Given the description of an element on the screen output the (x, y) to click on. 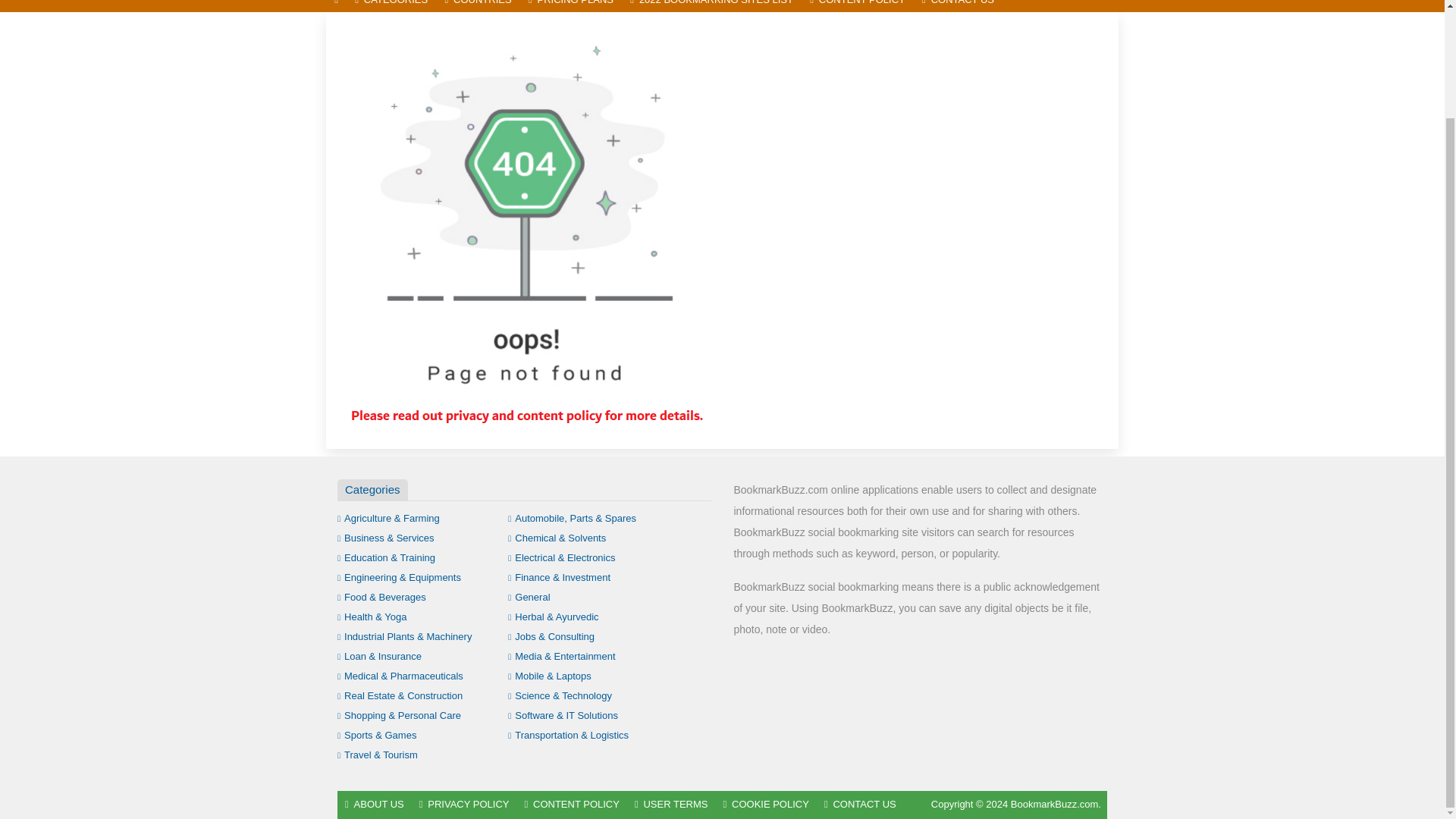
2022 BOOKMARKING SITES LIST (711, 6)
COUNTRIES (477, 6)
CONTACT US (958, 6)
HOME (336, 6)
CONTENT POLICY (858, 6)
PRICING PLANS (570, 6)
General (529, 596)
CATEGORIES (390, 6)
